Given the description of an element on the screen output the (x, y) to click on. 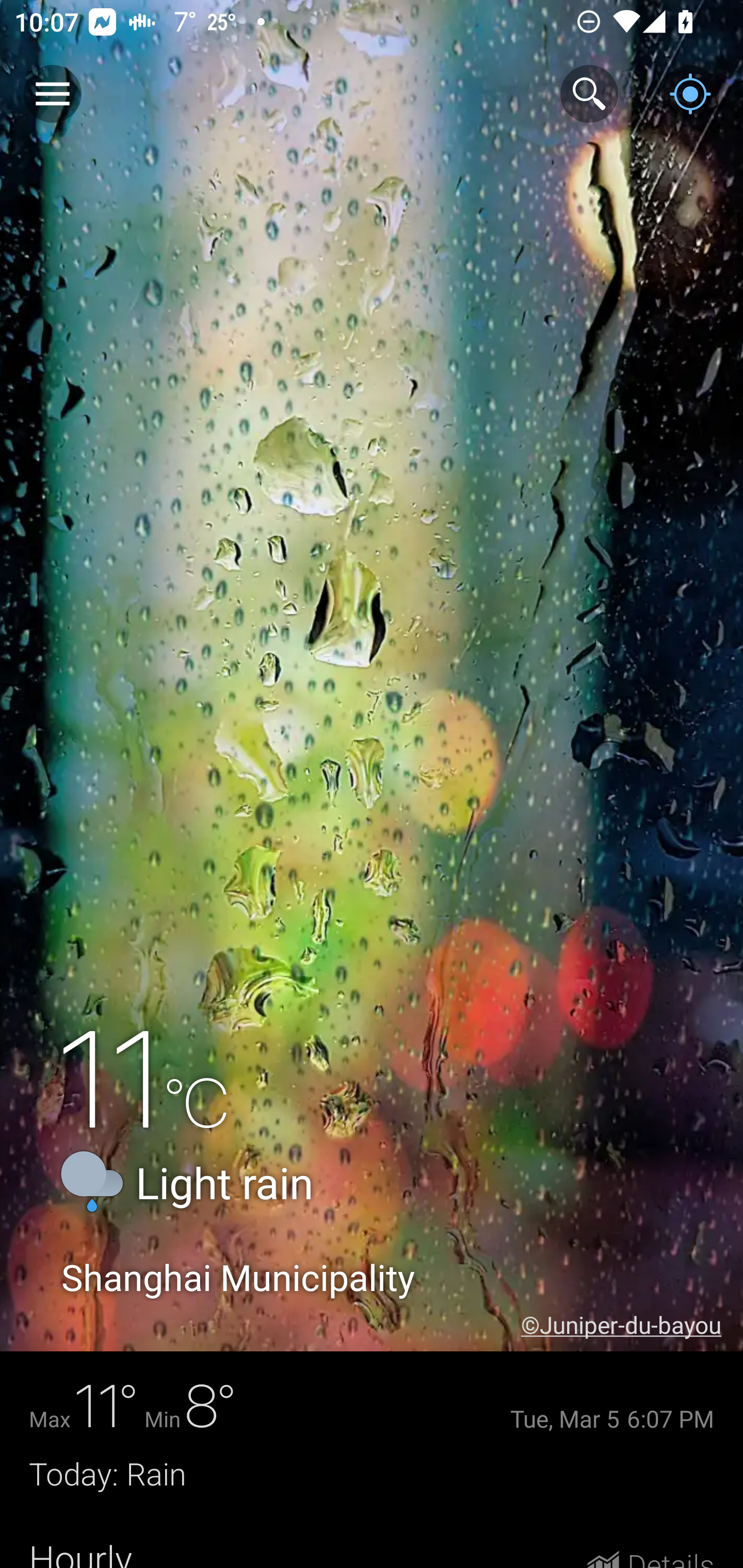
©Juniper-du-bayou (631, 1324)
